Given the description of an element on the screen output the (x, y) to click on. 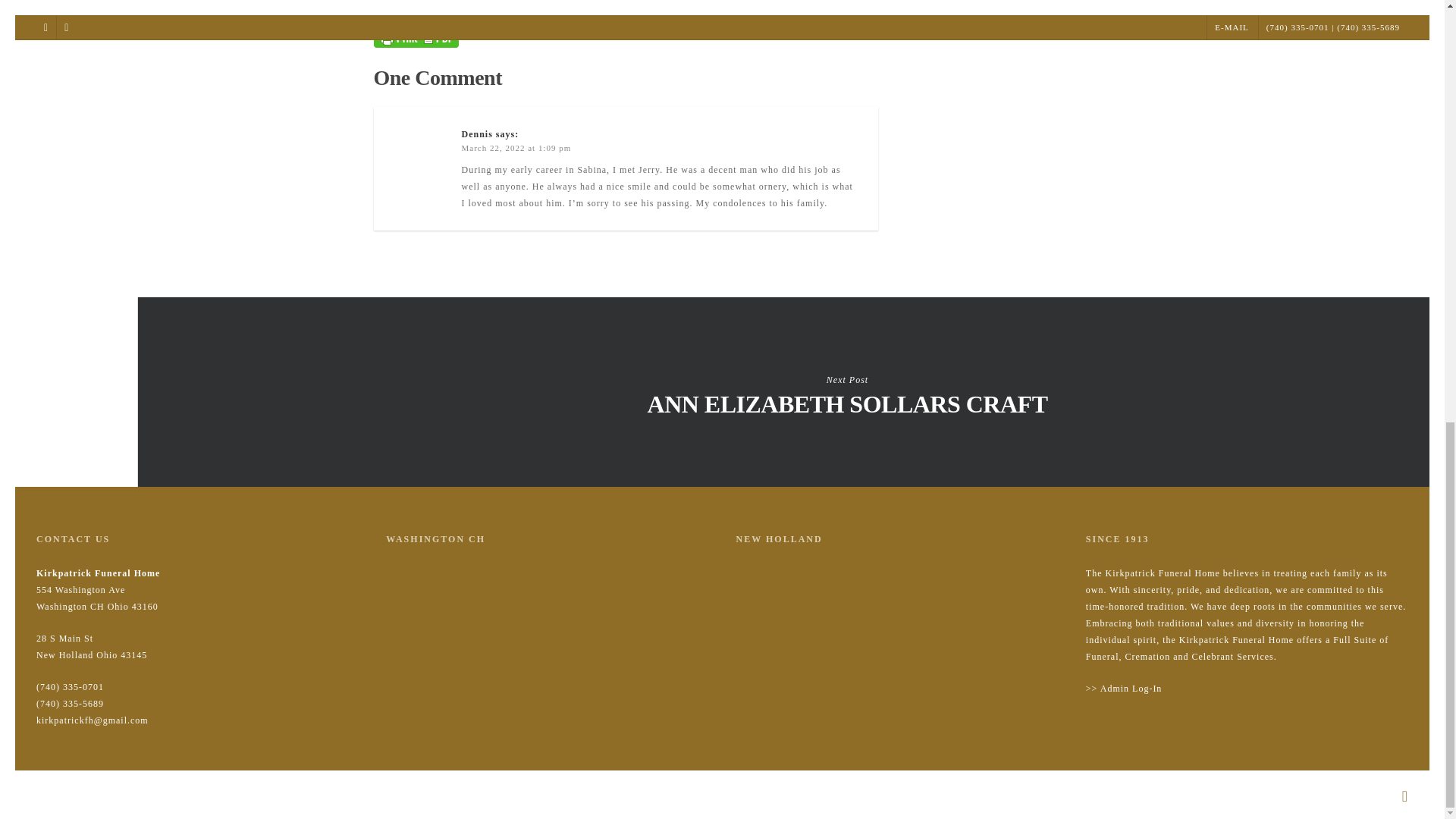
March 22, 2022 at 1:09 pm (515, 147)
